Given the description of an element on the screen output the (x, y) to click on. 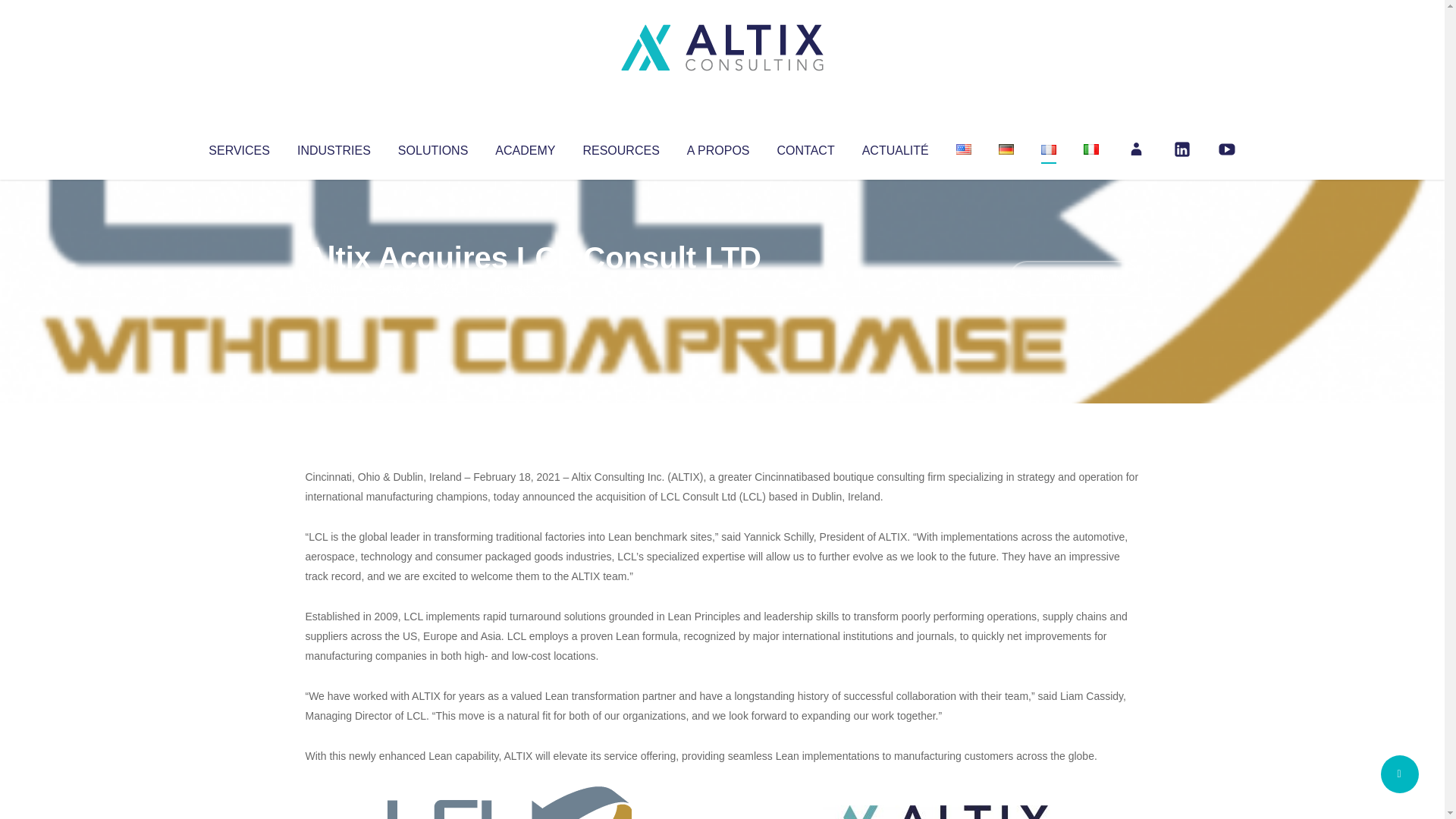
Altix (333, 287)
SOLUTIONS (432, 146)
ACADEMY (524, 146)
SERVICES (238, 146)
No Comments (1073, 278)
Uncategorized (530, 287)
A PROPOS (718, 146)
Articles par Altix (333, 287)
RESOURCES (620, 146)
INDUSTRIES (334, 146)
